Given the description of an element on the screen output the (x, y) to click on. 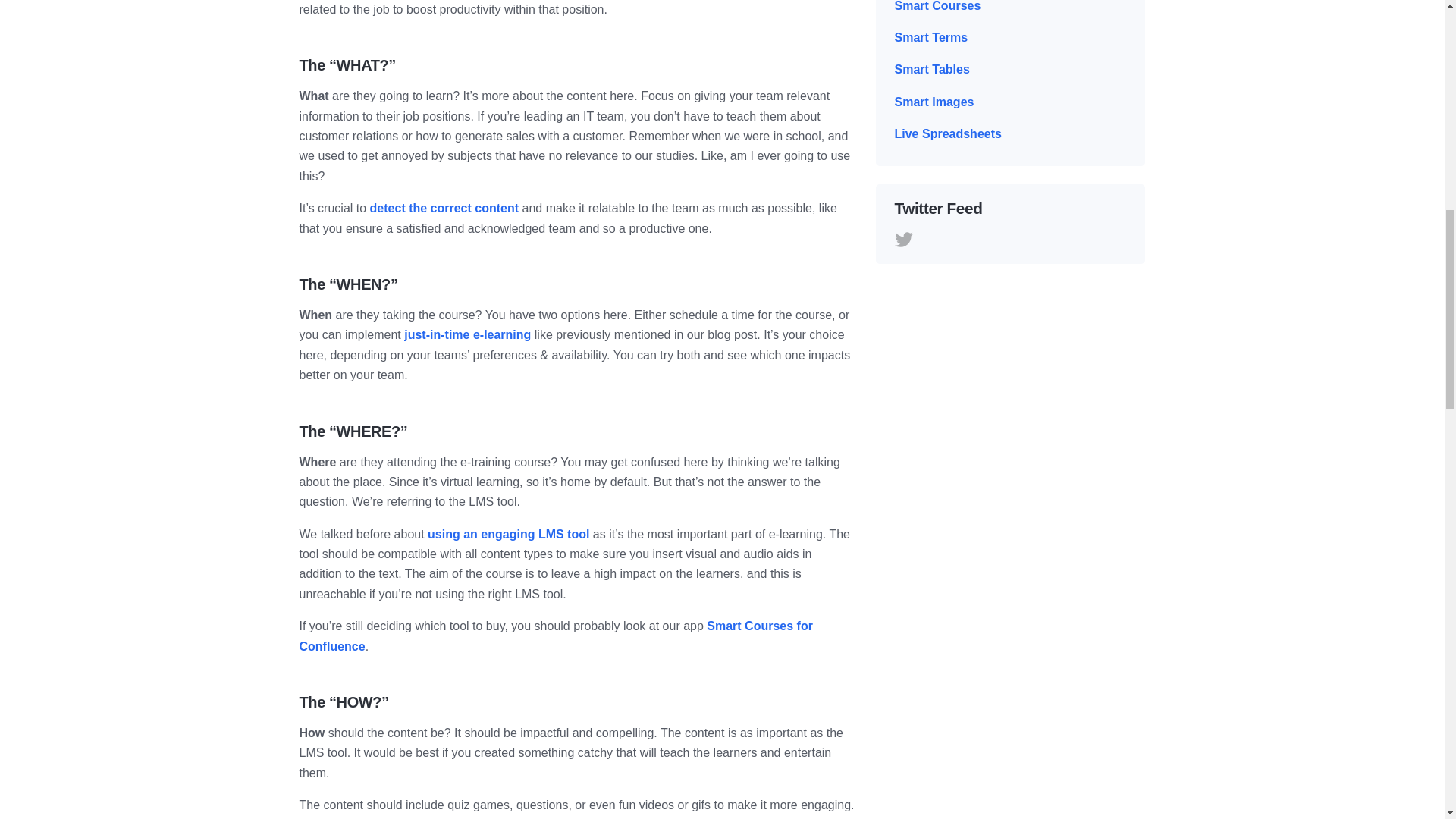
Smart Courses for Confluence (555, 635)
just-in-time e-learning (467, 334)
using an engaging LMS tool (508, 533)
detect the correct content (443, 207)
